Given the description of an element on the screen output the (x, y) to click on. 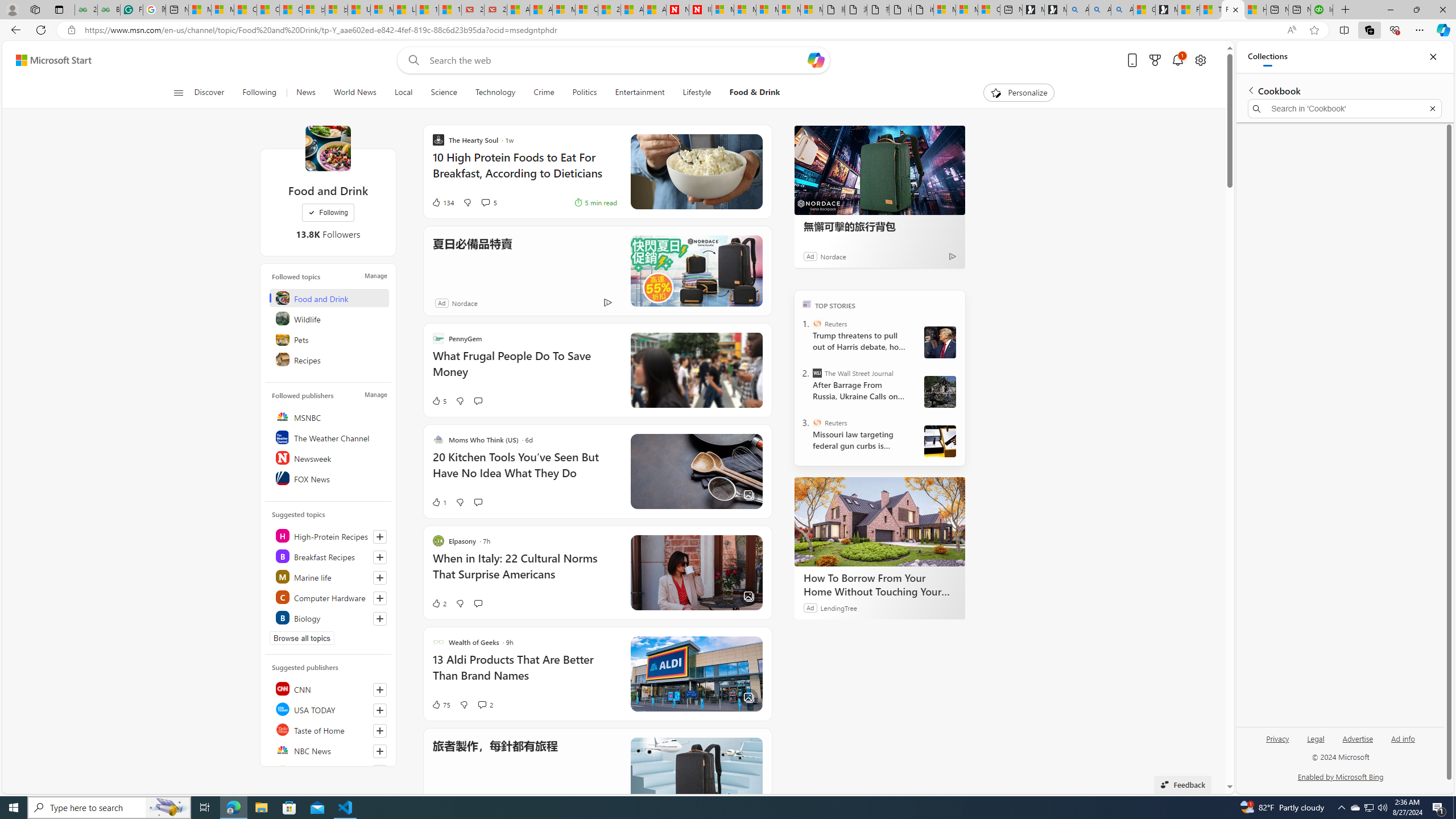
View comments 5 Comment (489, 202)
See more (754, 744)
Microsoft rewards (1154, 60)
2 Like (438, 603)
Food and Drink (328, 298)
Newsweek (328, 457)
CNN (328, 688)
Follow this topic (379, 618)
Intuit QuickBooks Online - Quickbooks (1322, 9)
Collections (1267, 56)
Microsoft Start (199, 9)
Wildlife (328, 318)
